Given the description of an element on the screen output the (x, y) to click on. 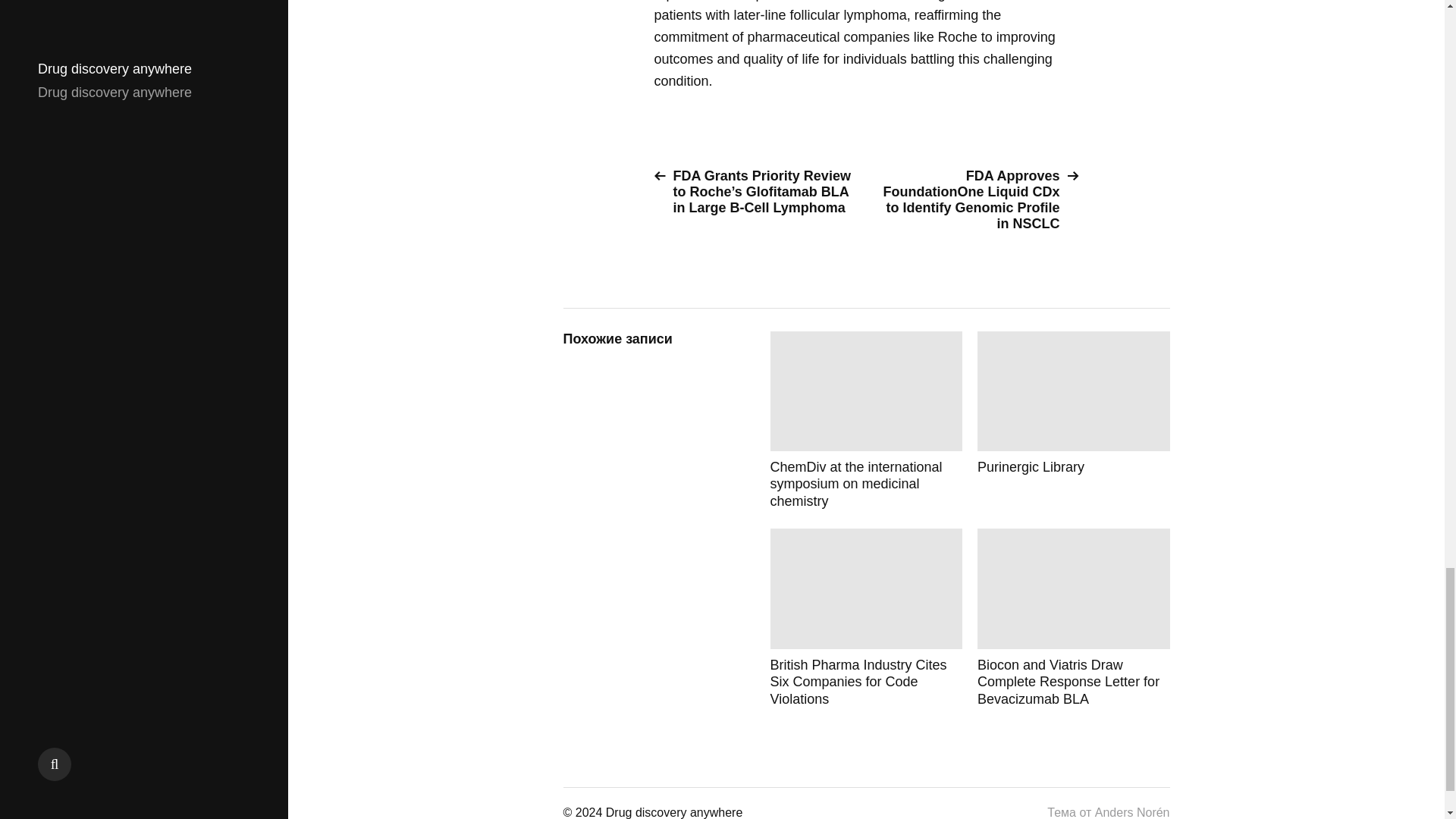
Purinergic Library (1073, 420)
